Given the description of an element on the screen output the (x, y) to click on. 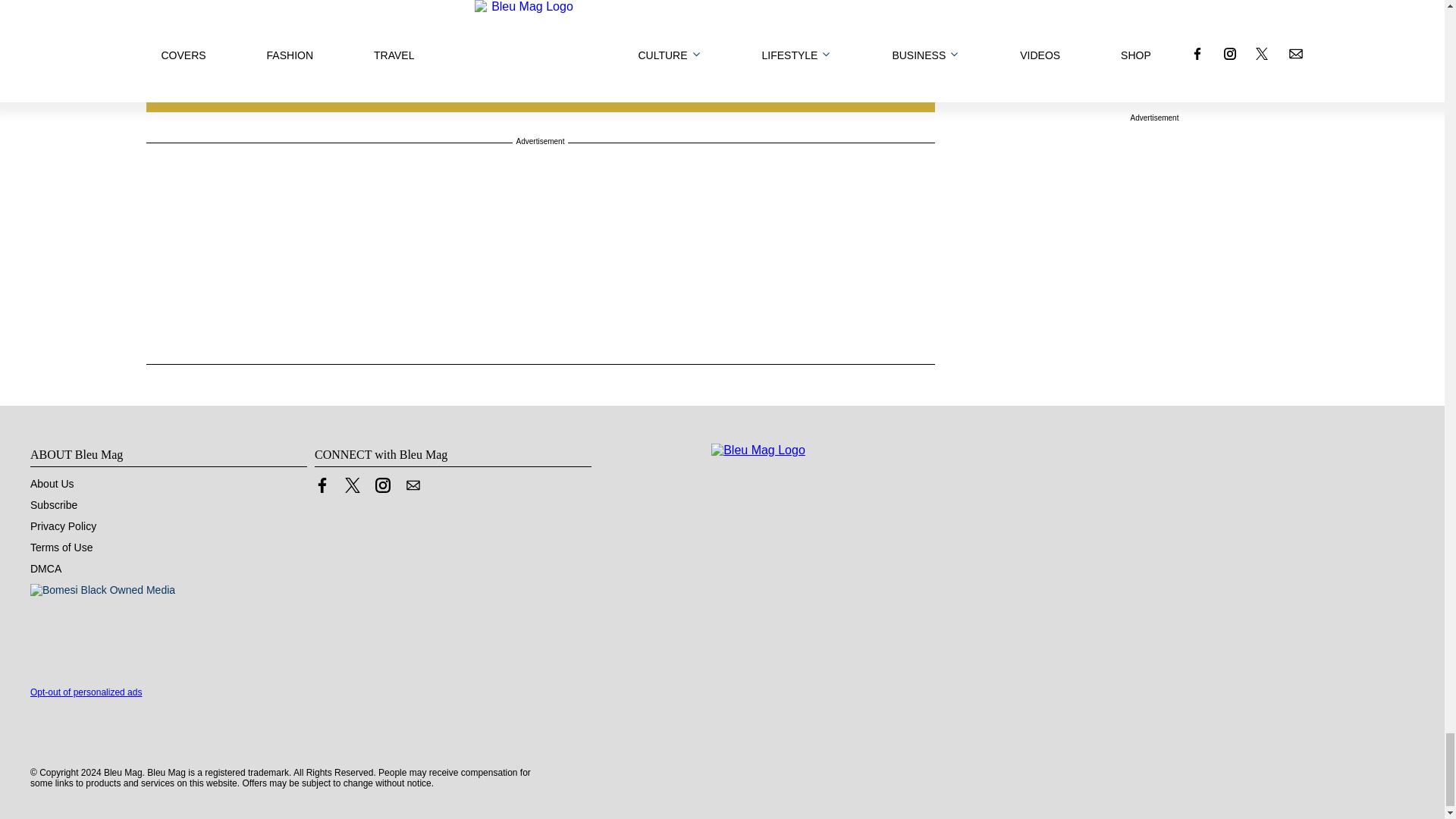
About Us (52, 483)
Contact us by Email (413, 485)
Link to Facebook (322, 485)
Link to X (352, 485)
DMCA (45, 568)
Subscribe (53, 504)
Link to Instagram (382, 485)
Privacy Policy (63, 526)
Terms of Use (61, 547)
